Given the description of an element on the screen output the (x, y) to click on. 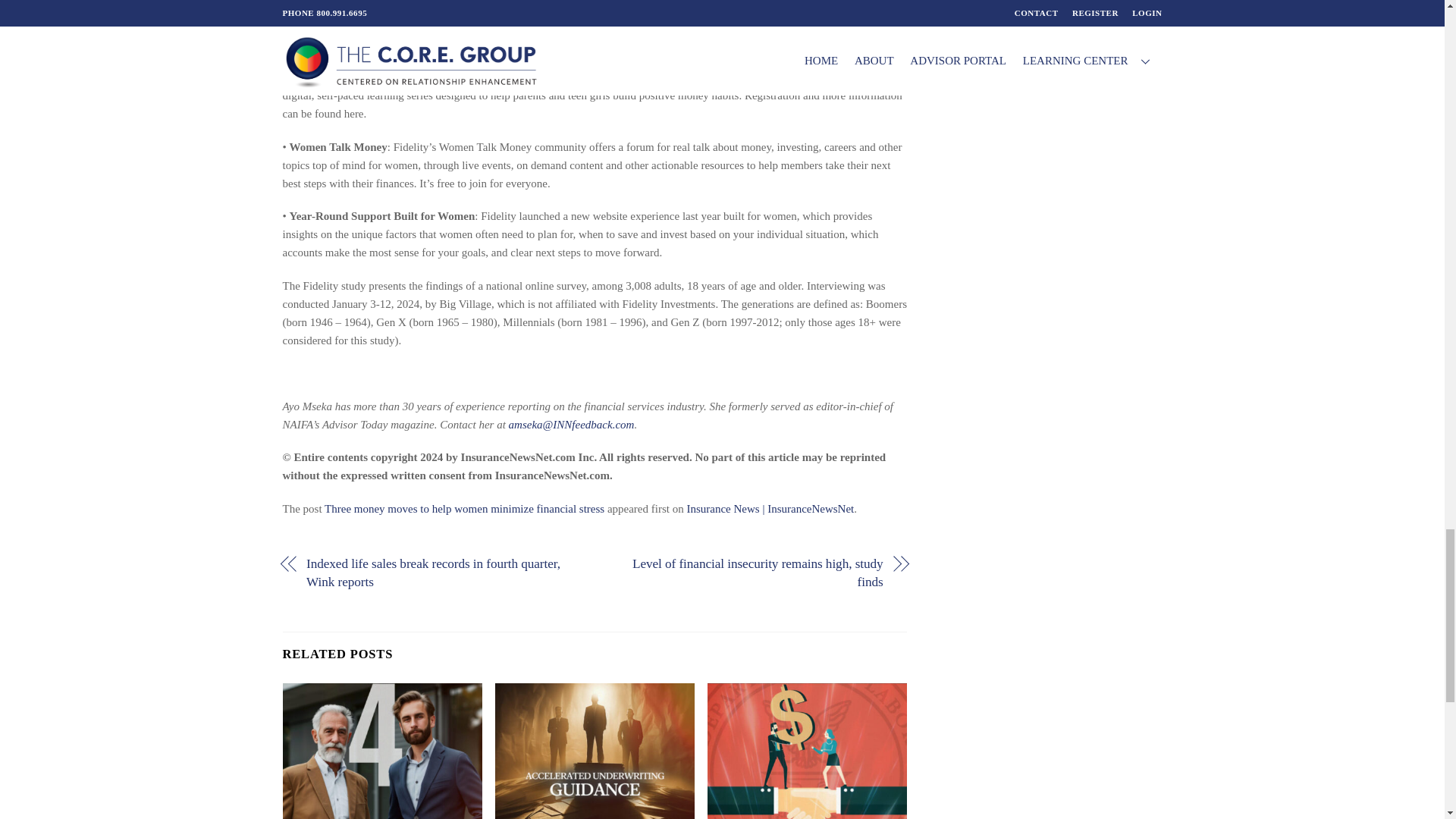
Three money moves to help women minimize financial stress (464, 508)
Level of financial insecurity remains high, study finds (747, 573)
